Given the description of an element on the screen output the (x, y) to click on. 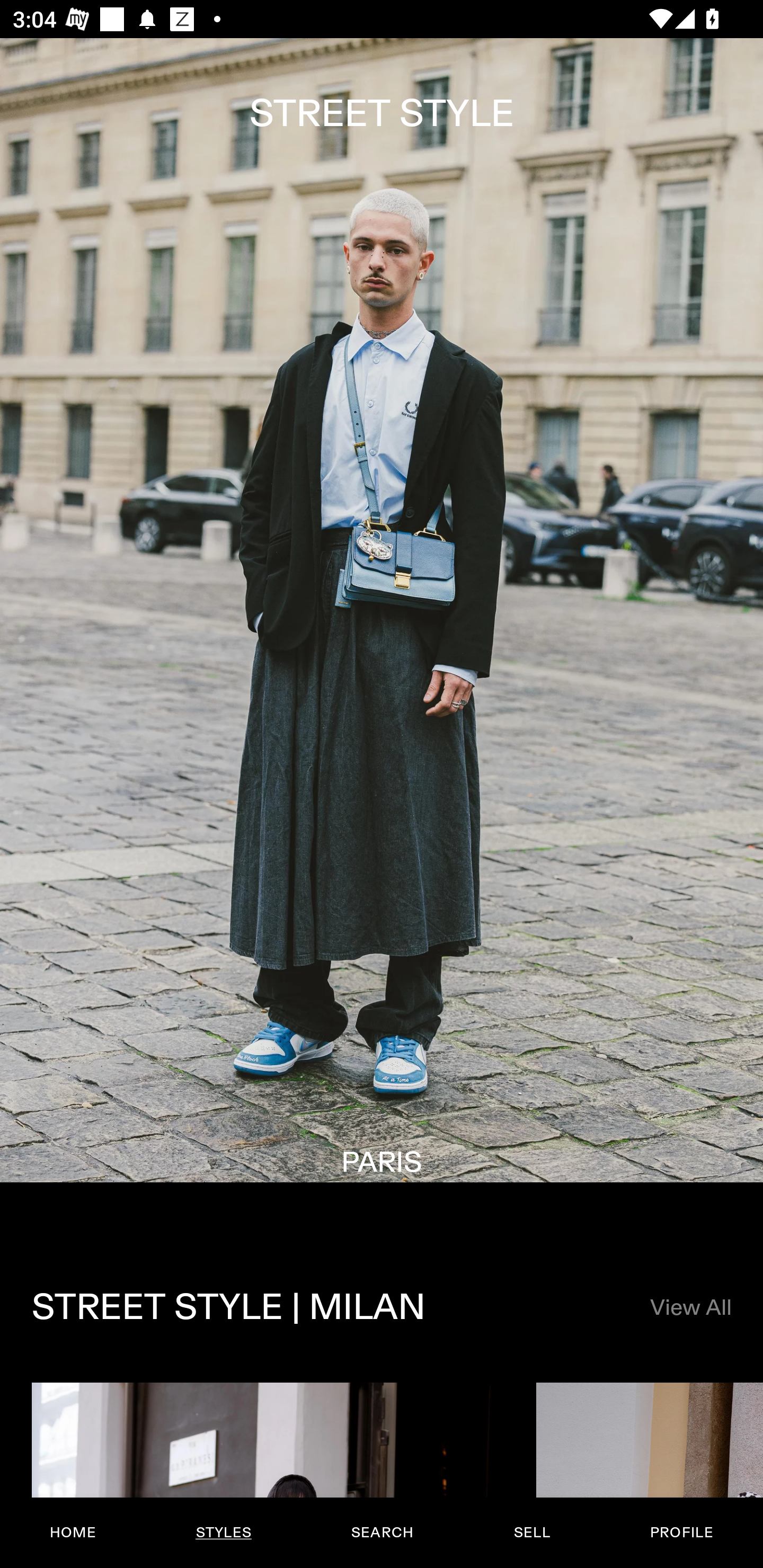
View All (690, 1308)
HOME (72, 1532)
STYLES (222, 1532)
SEARCH (381, 1532)
SELL (531, 1532)
PROFILE (681, 1532)
